Given the description of an element on the screen output the (x, y) to click on. 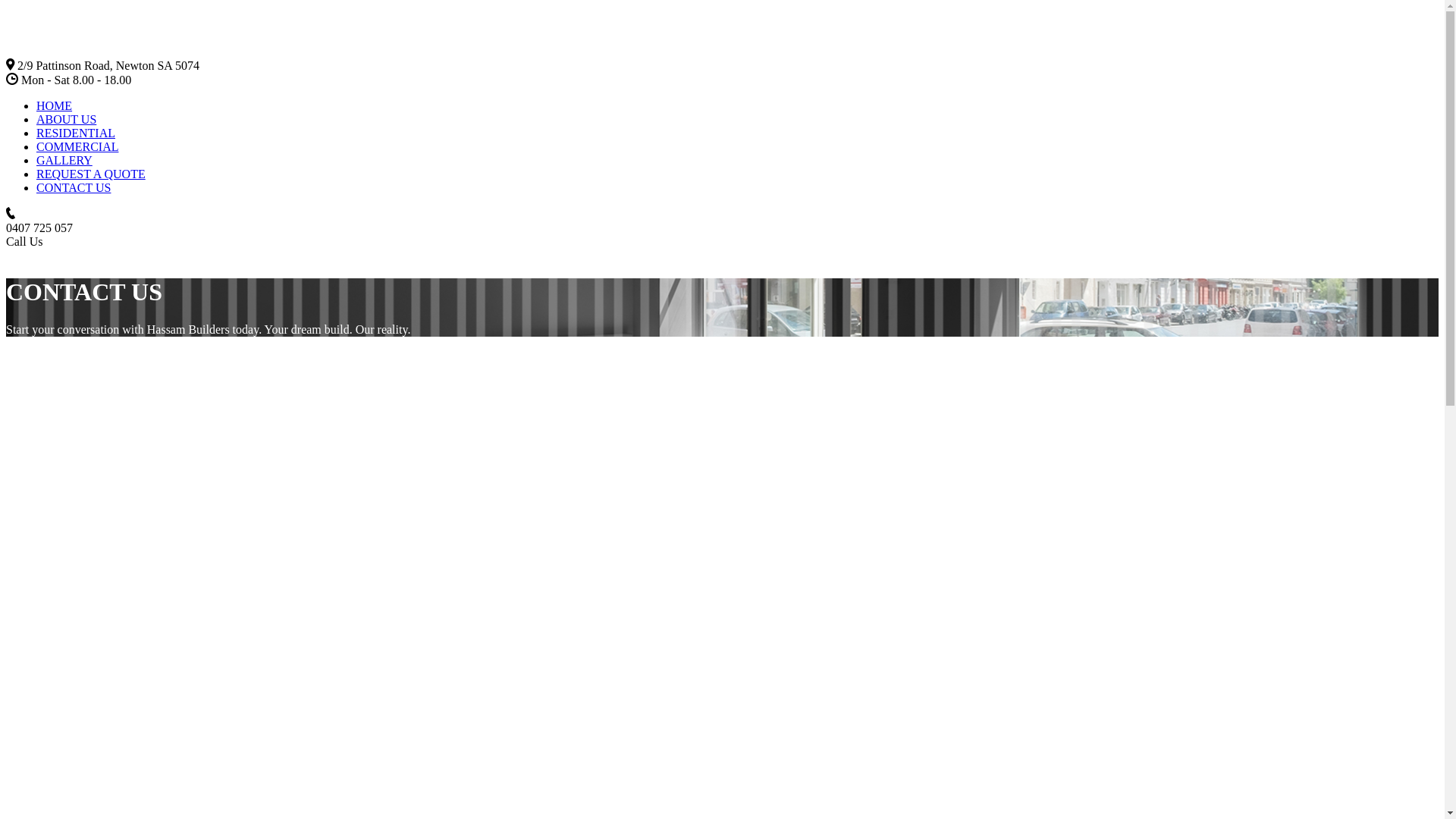
Header_Logo_Horizontal Element type: hover (91, 50)
CONTACT US Element type: text (73, 187)
GALLERY Element type: text (64, 159)
ABOUT US Element type: text (66, 118)
Home Element type: hover (6, 254)
REQUEST A QUOTE Element type: text (90, 173)
RESIDENTIAL Element type: text (75, 132)
COMMERCIAL Element type: text (77, 146)
HOME Element type: text (54, 105)
